Given the description of an element on the screen output the (x, y) to click on. 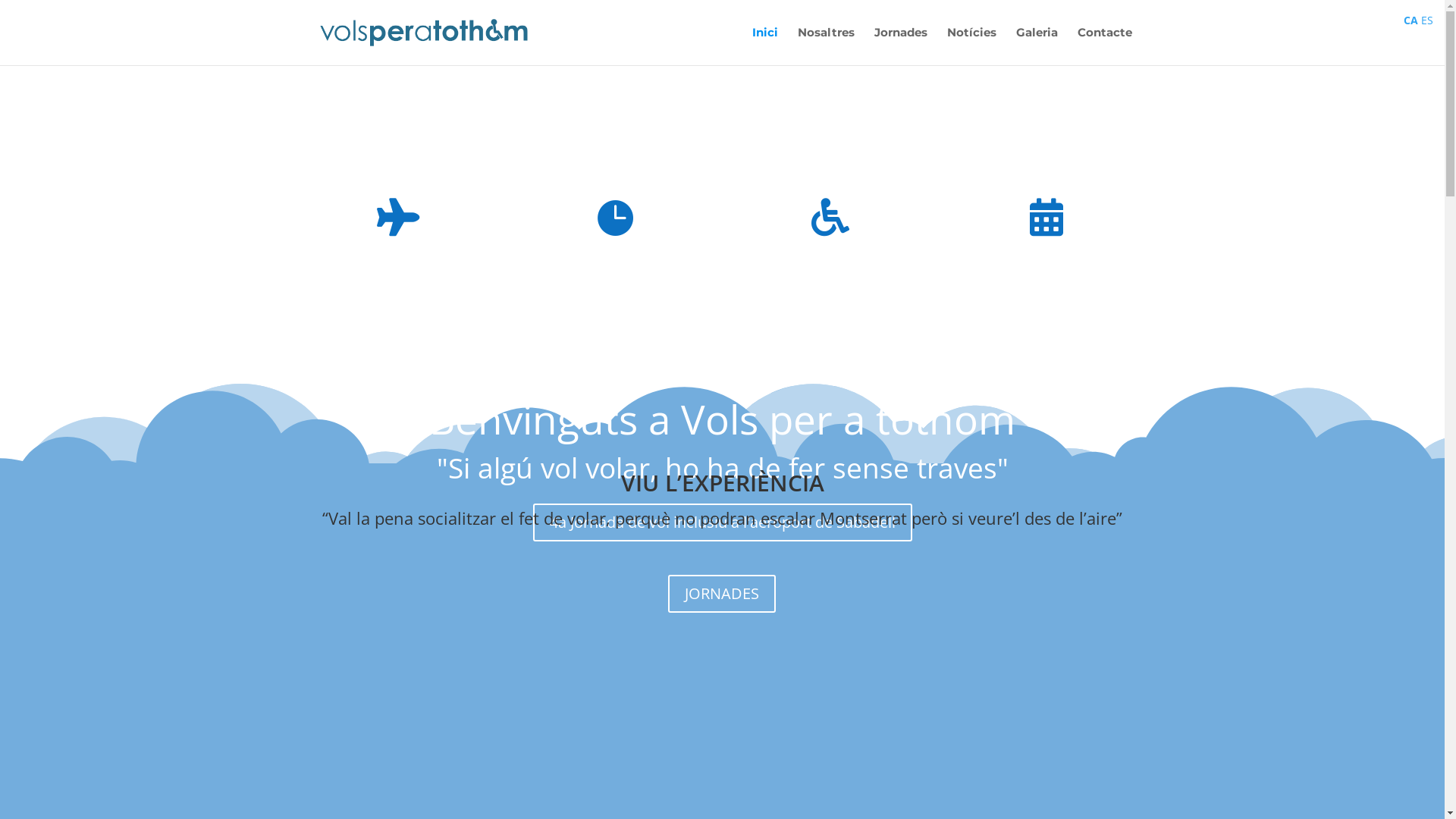
Jornades Element type: text (899, 46)
; Element type: text (721, 101)
JORNADES Element type: text (721, 593)
Galeria Element type: text (1036, 46)
Contacte Element type: text (1103, 46)
Inici Element type: text (765, 46)
Nosaltres Element type: text (825, 46)
4a Jornada de vol inclusiu a l'aeroport de Sabadell Element type: text (721, 522)
CA Element type: text (1410, 19)
ES Element type: text (1427, 19)
